Given the description of an element on the screen output the (x, y) to click on. 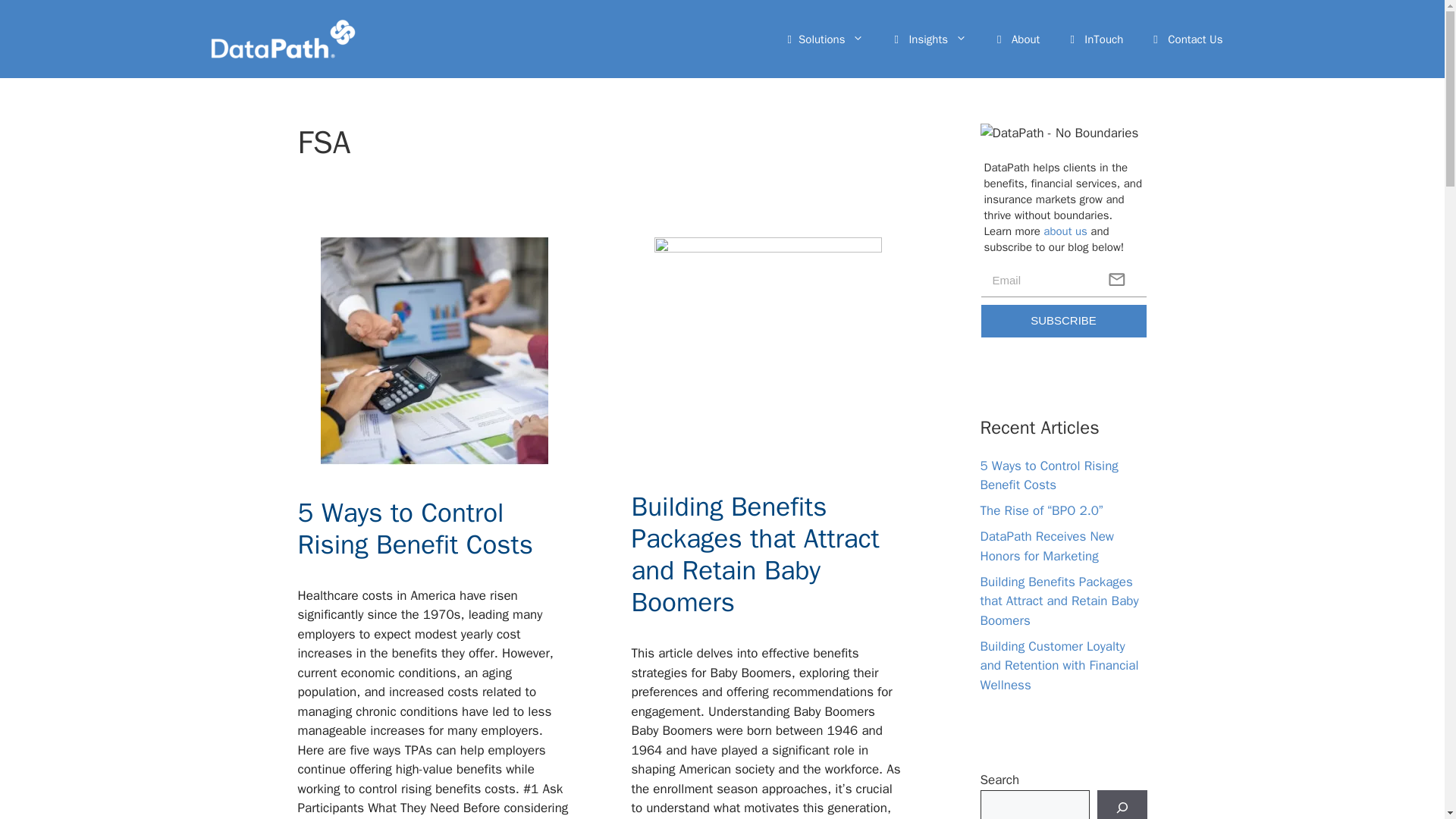
5 Ways to Control Rising Benefit Costs (414, 528)
  Solutions (826, 39)
   InTouch (1096, 39)
   Contact Us (1187, 39)
   Insights (930, 39)
   About (1017, 39)
DataPath - No Boundaries (1063, 137)
